Given the description of an element on the screen output the (x, y) to click on. 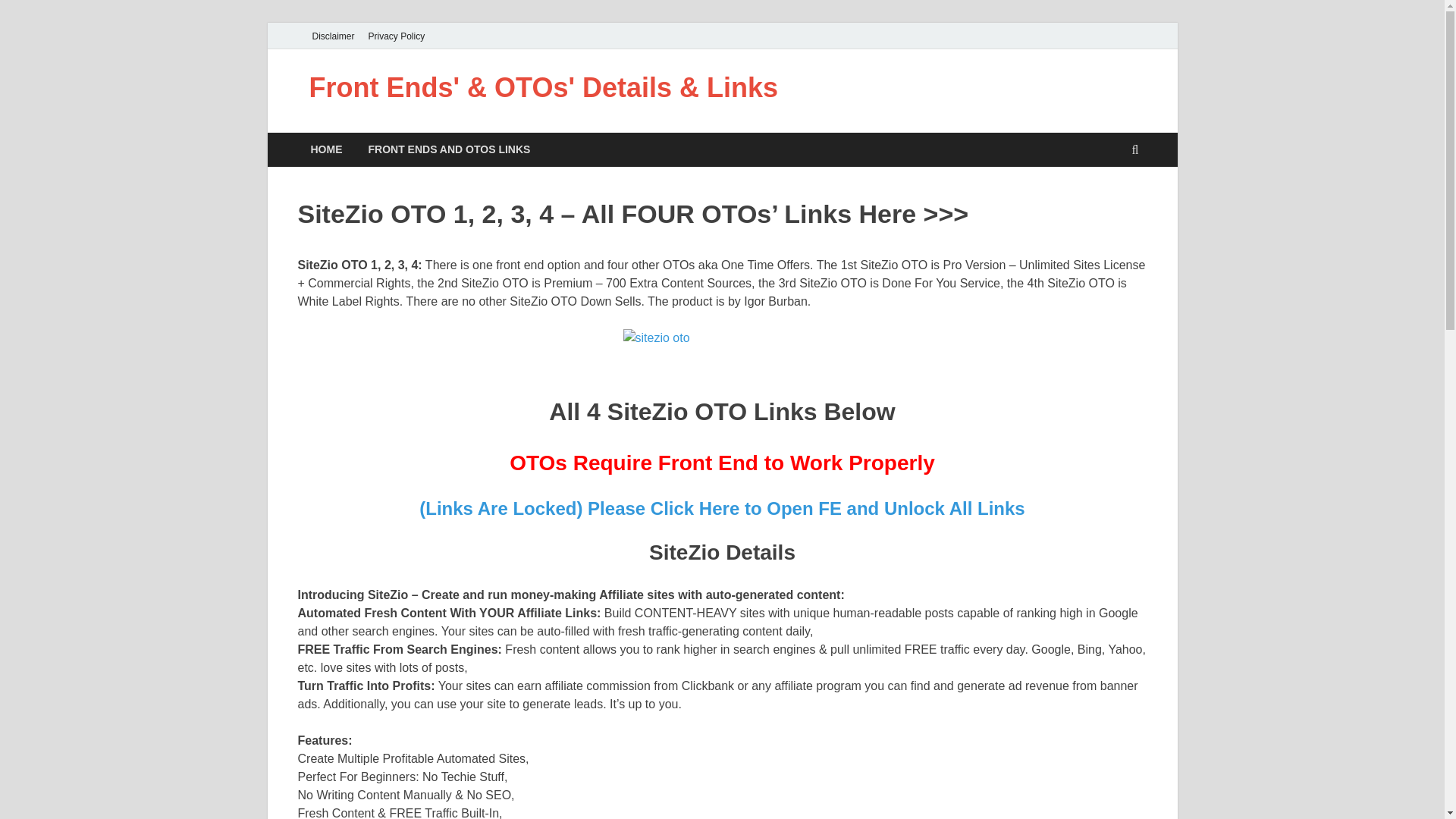
Privacy Policy (396, 35)
HOME (326, 149)
FRONT ENDS AND OTOS LINKS (449, 149)
Disclaimer (332, 35)
